Given the description of an element on the screen output the (x, y) to click on. 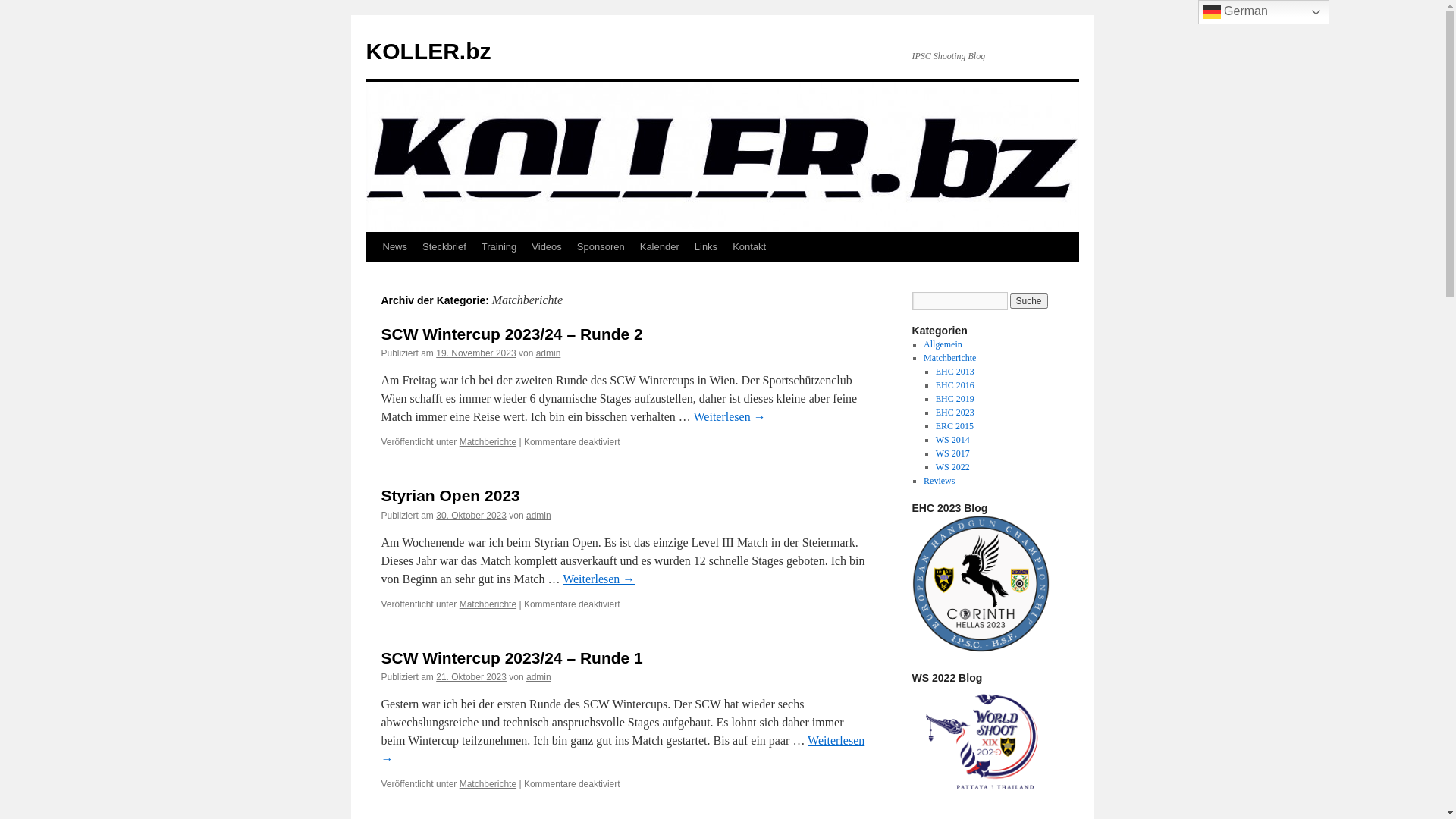
30. Oktober 2023 Element type: text (471, 515)
19. November 2023 Element type: text (475, 353)
KOLLER.bz Element type: text (427, 50)
Steckbrief Element type: text (443, 246)
News Element type: text (394, 246)
Matchberichte Element type: text (487, 441)
WS 2017 Element type: text (952, 453)
admin Element type: text (538, 676)
admin Element type: text (538, 515)
Kalender Element type: text (659, 246)
German Element type: text (1263, 12)
Links Element type: text (705, 246)
Matchberichte Element type: text (949, 357)
Sponsoren Element type: text (600, 246)
EHC 2023 Element type: text (954, 412)
WS 2022 Element type: text (952, 466)
EHC 2016 Element type: text (954, 384)
Matchberichte Element type: text (487, 783)
21. Oktober 2023 Element type: text (471, 676)
Allgemein Element type: text (942, 343)
Reviews Element type: text (938, 480)
Styrian Open 2023 Element type: text (449, 495)
EHC 2013 Element type: text (954, 371)
admin Element type: text (548, 353)
Matchberichte Element type: text (487, 604)
WS 2014 Element type: text (952, 439)
ERC 2015 Element type: text (954, 425)
Suche Element type: text (1029, 300)
Training Element type: text (498, 246)
Kontakt Element type: text (748, 246)
EHC 2019 Element type: text (954, 398)
Zum Inhalt springen Element type: text (372, 275)
Videos Element type: text (546, 246)
